Given the description of an element on the screen output the (x, y) to click on. 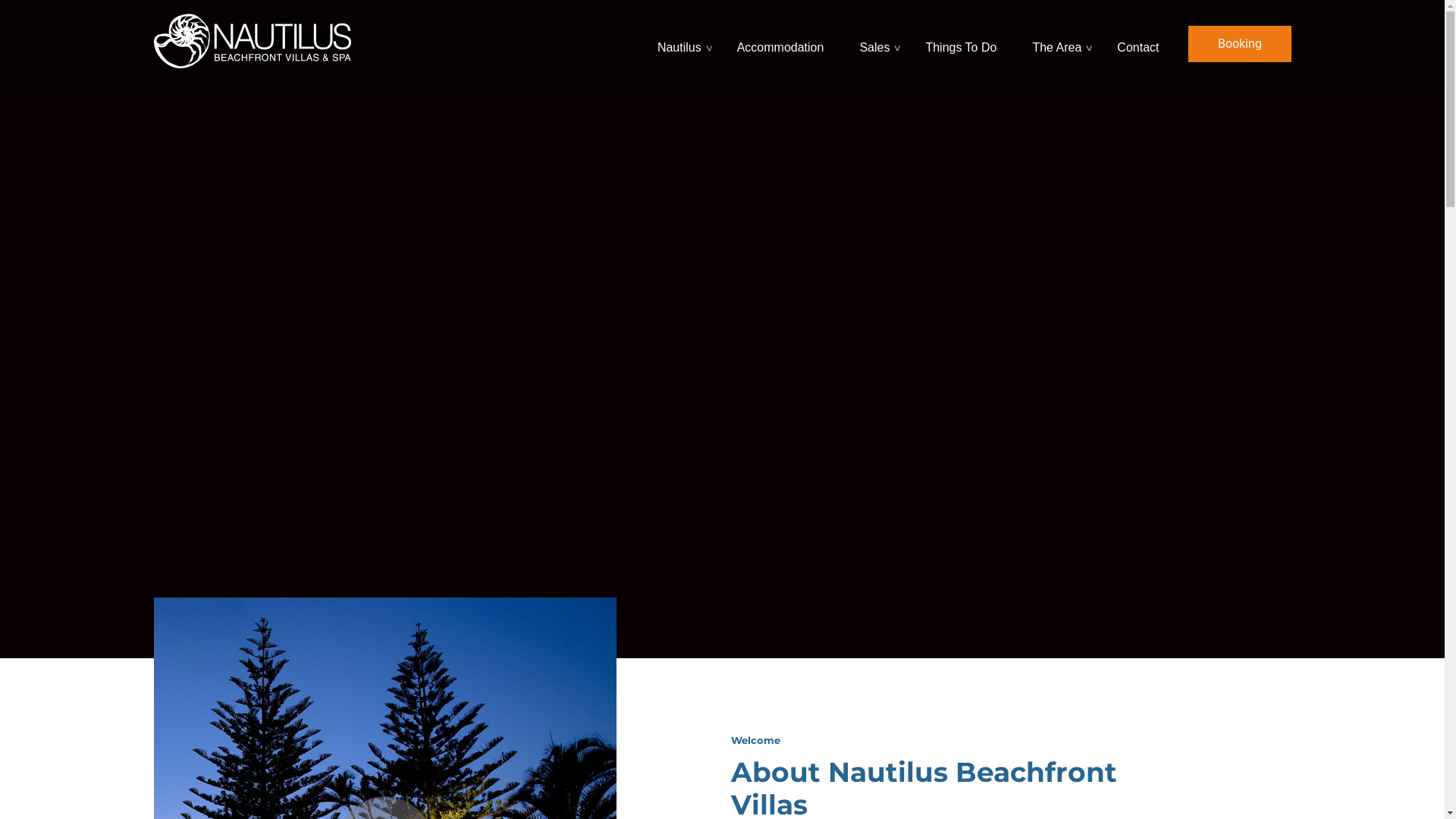
Nautilus Beachfront Villas & Spas Element type: hover (251, 39)
Things To Do Element type: text (962, 43)
Contact Element type: text (1139, 43)
Accommodation Element type: text (782, 43)
The Area Element type: text (1058, 43)
Sales Element type: text (876, 43)
Booking Element type: text (1238, 43)
Nautilus Element type: text (681, 43)
